Given the description of an element on the screen output the (x, y) to click on. 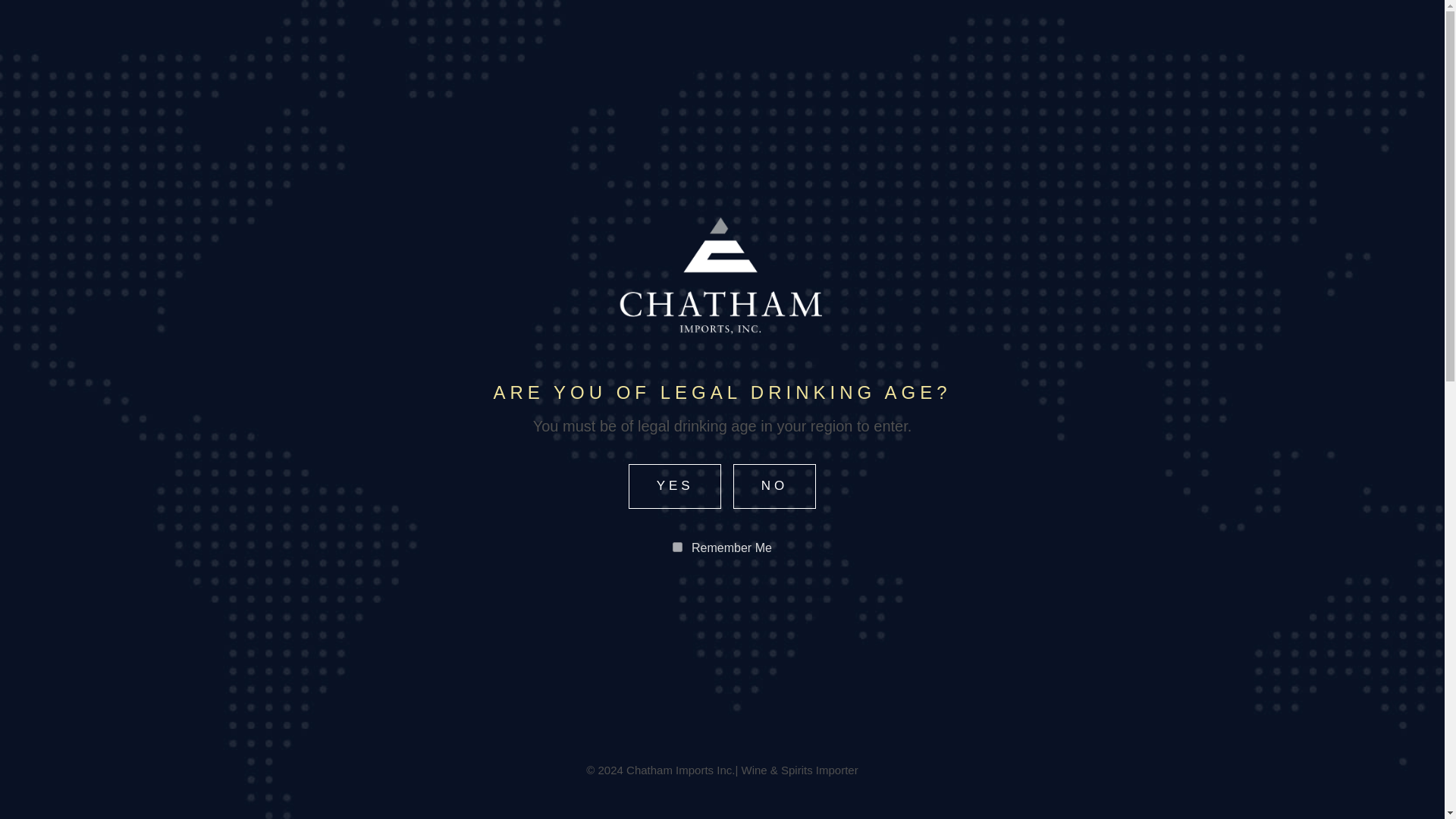
VISIT SITE (721, 351)
YES (674, 486)
ABOUT (313, 50)
BRANDS (414, 50)
CONTACT (526, 50)
NO (774, 486)
on (677, 547)
